Given the description of an element on the screen output the (x, y) to click on. 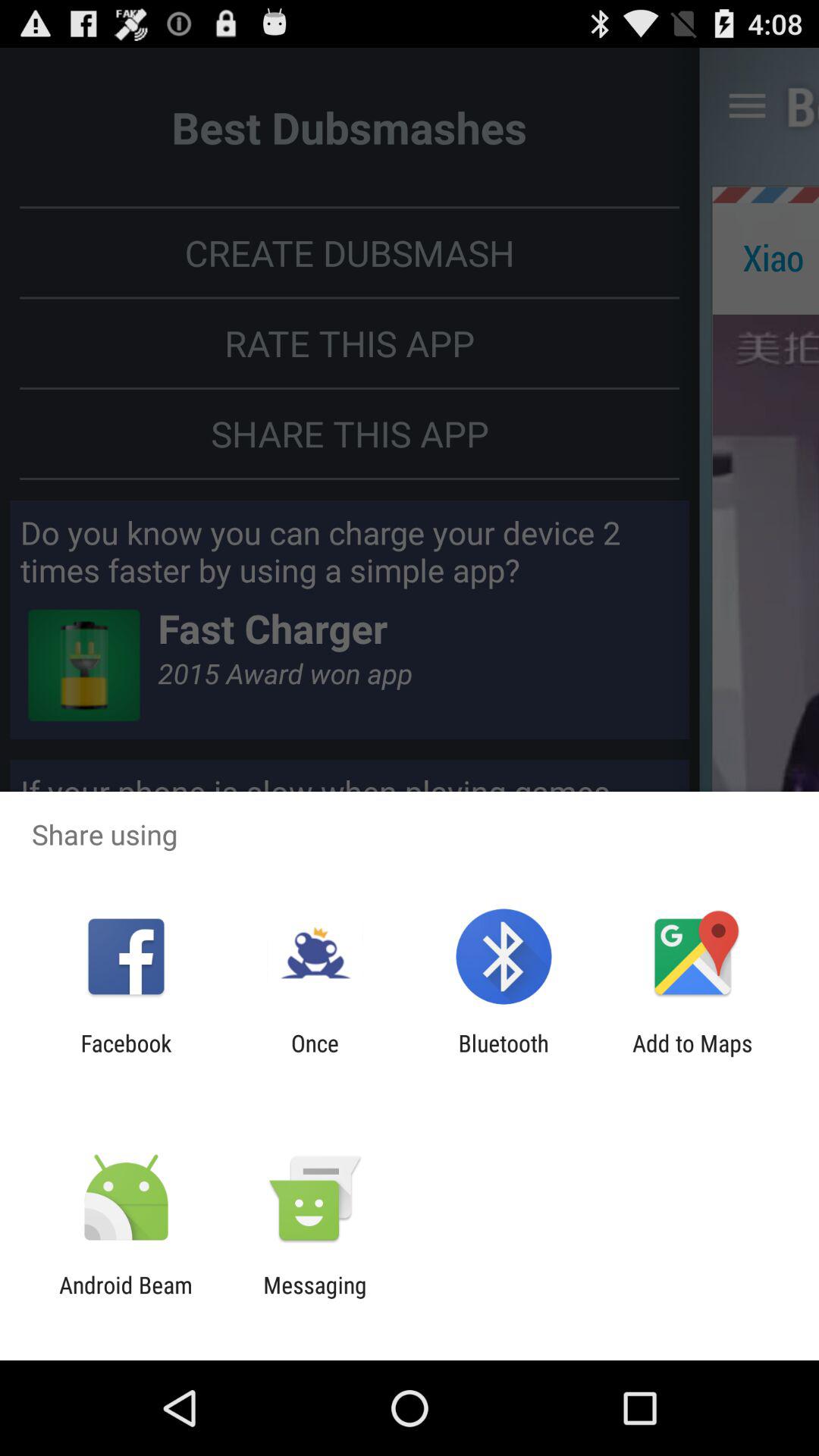
scroll to the android beam app (125, 1298)
